Given the description of an element on the screen output the (x, y) to click on. 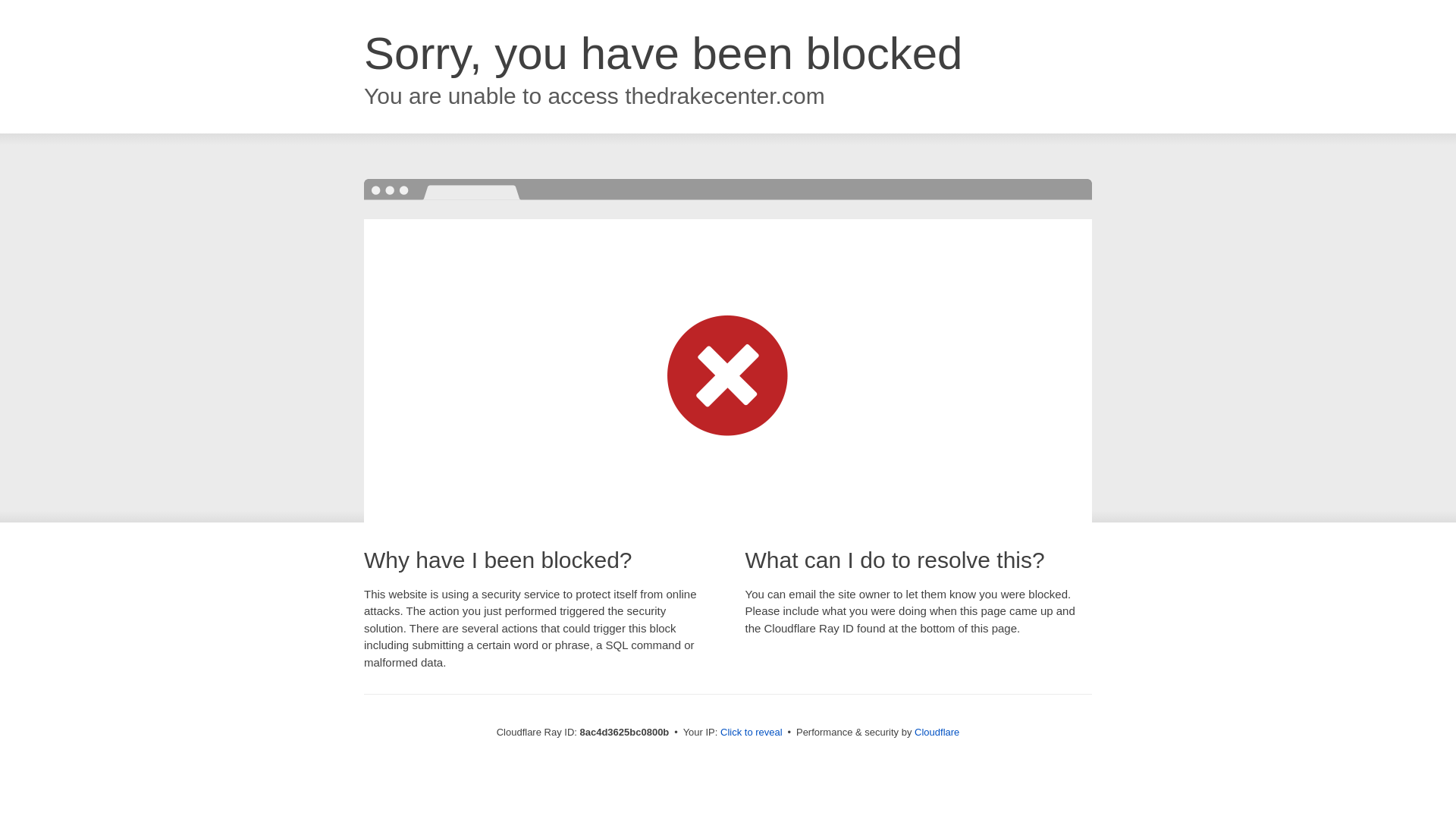
Click to reveal (751, 732)
Cloudflare (936, 731)
